Given the description of an element on the screen output the (x, y) to click on. 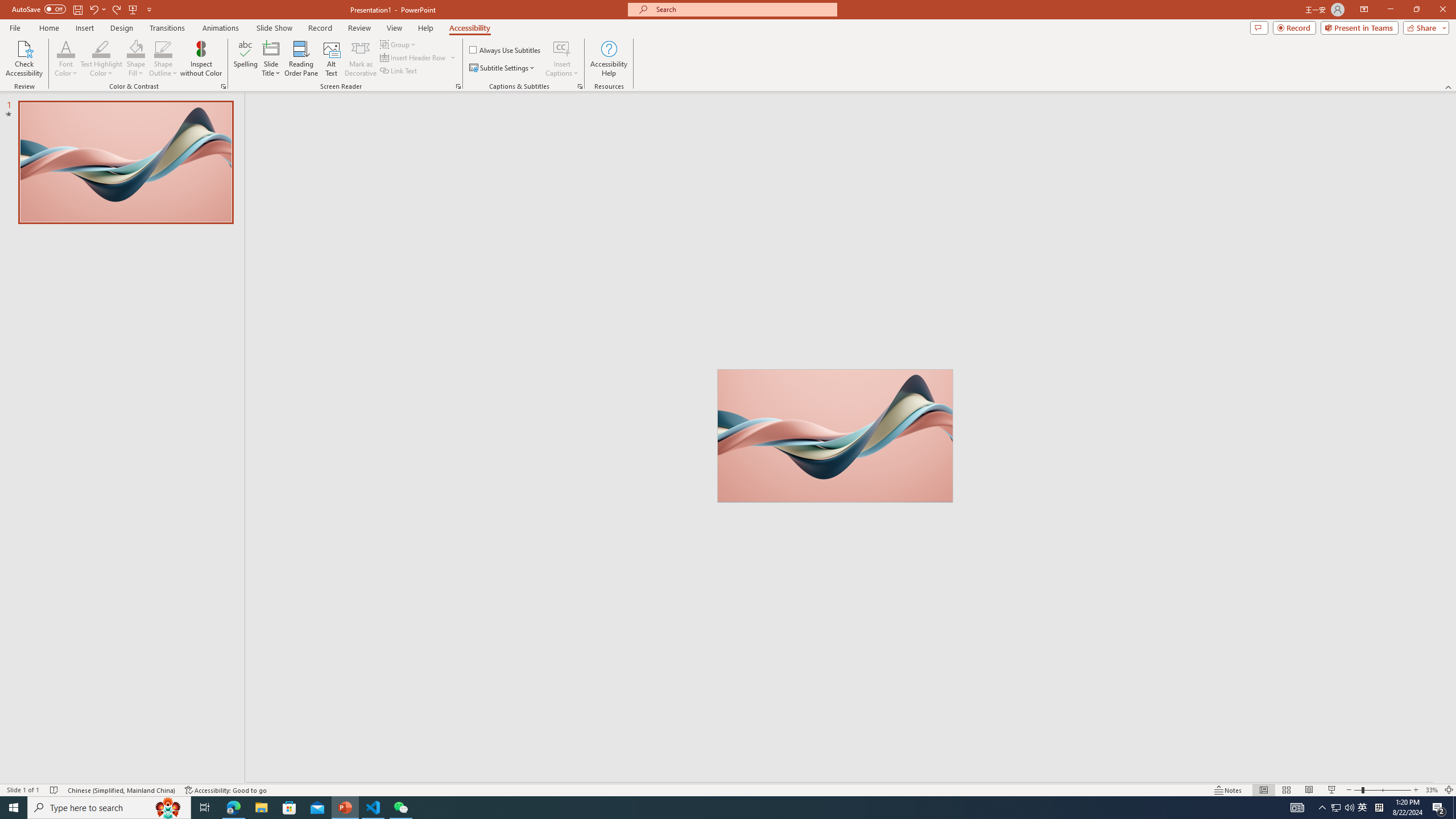
Slide Title (271, 58)
Slide Title (271, 48)
Link Text (399, 69)
Subtitle Settings (502, 67)
Always Use Subtitles (505, 49)
